Given the description of an element on the screen output the (x, y) to click on. 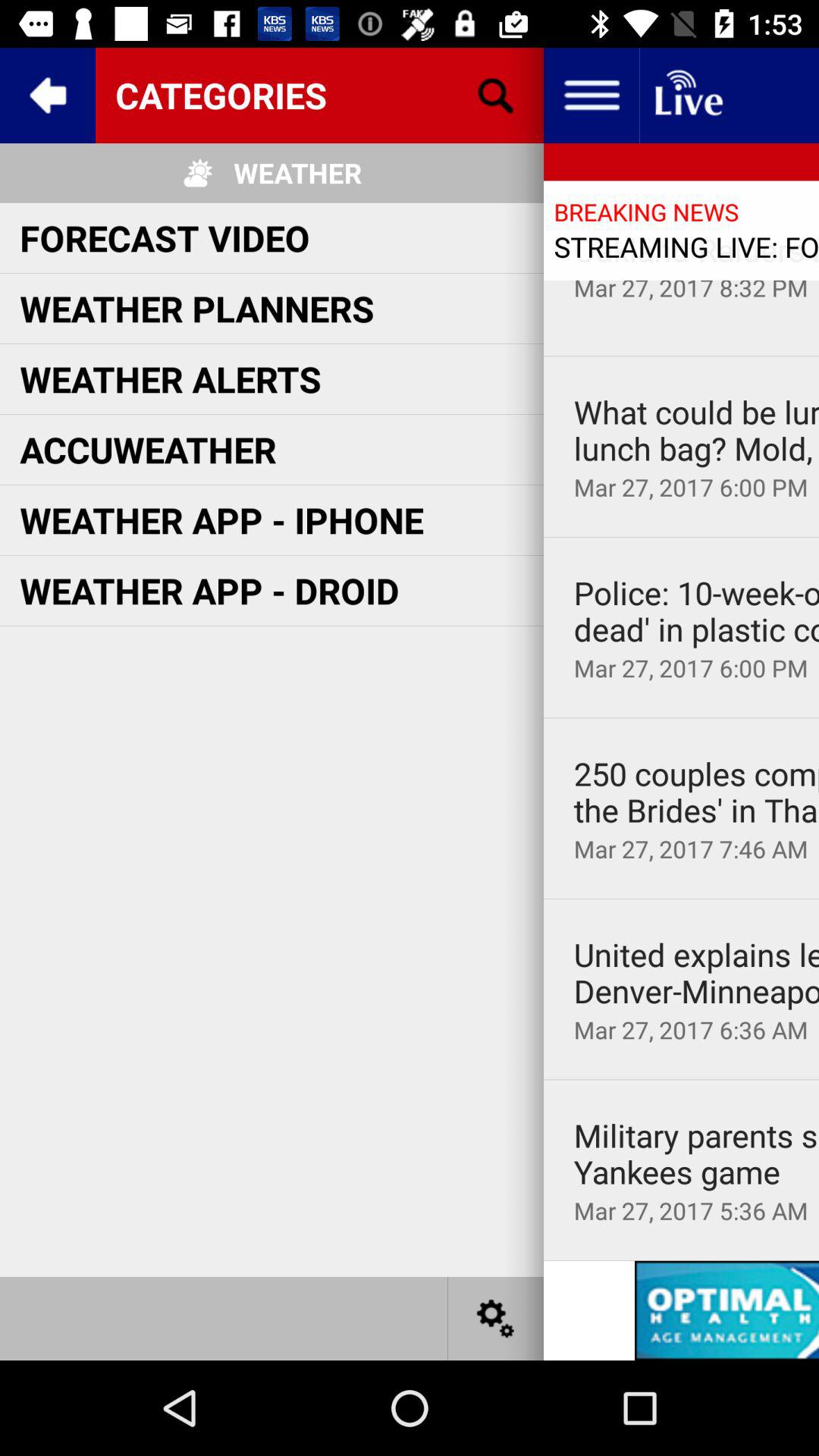
live news (687, 95)
